Given the description of an element on the screen output the (x, y) to click on. 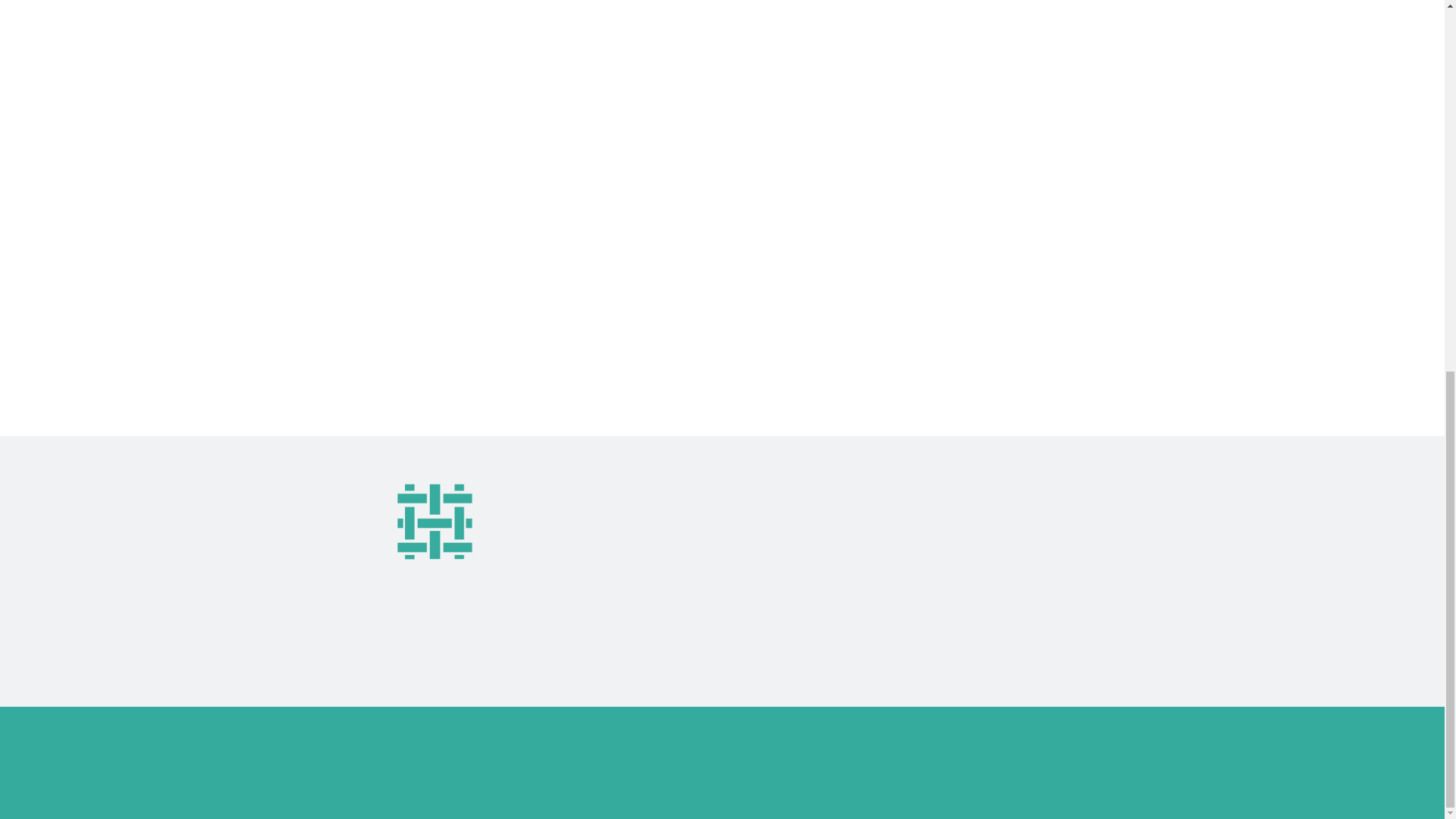
Good Cloth on Pinterest (917, 584)
Good Cloth on Facebook (919, 553)
Good Cloth on Twitter (913, 522)
Good Cloth on Instagram (920, 615)
